Given the description of an element on the screen output the (x, y) to click on. 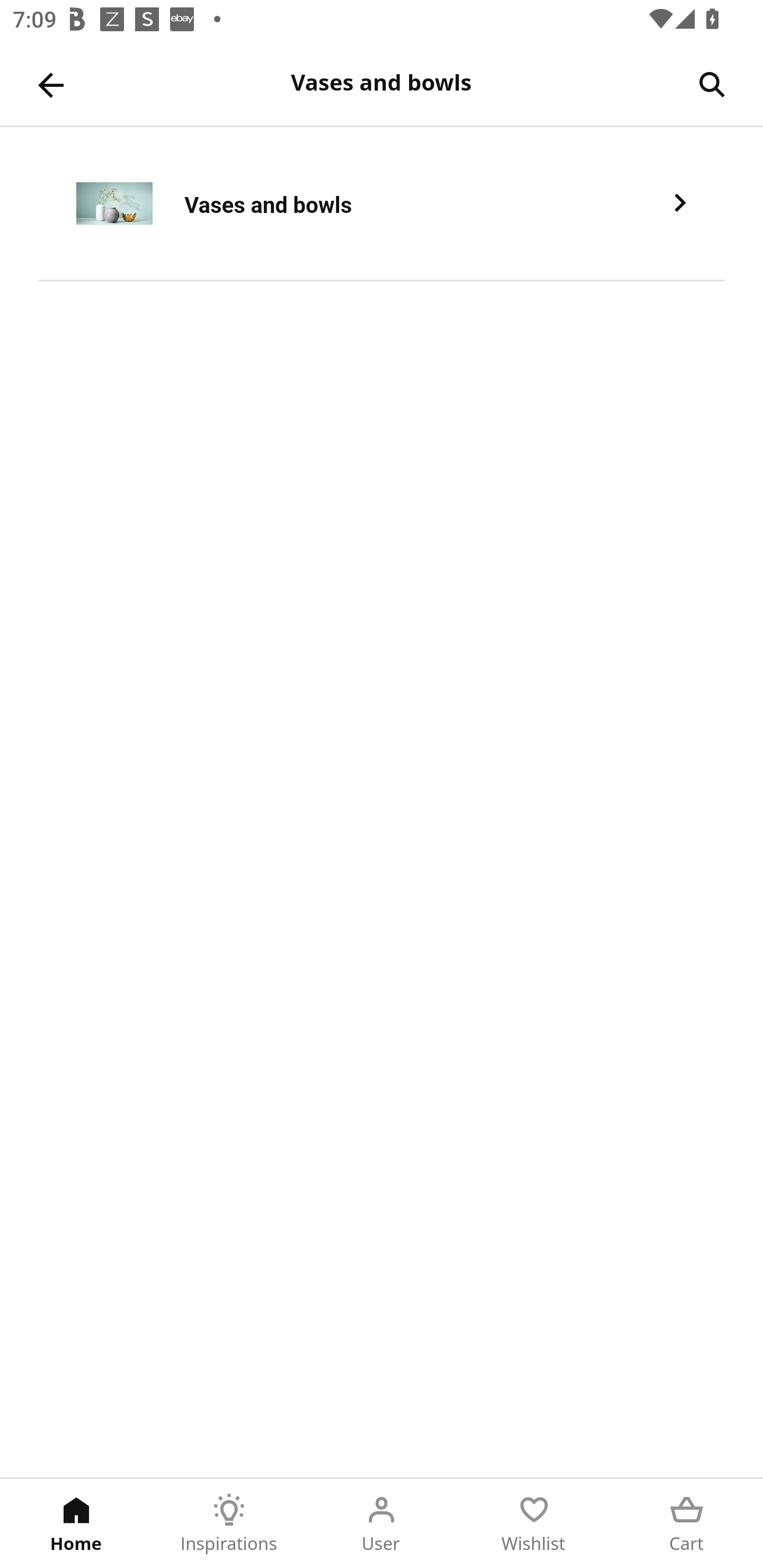
Vases and bowls (381, 203)
Home
Tab 1 of 5 (76, 1522)
Inspirations
Tab 2 of 5 (228, 1522)
User
Tab 3 of 5 (381, 1522)
Wishlist
Tab 4 of 5 (533, 1522)
Cart
Tab 5 of 5 (686, 1522)
